Given the description of an element on the screen output the (x, y) to click on. 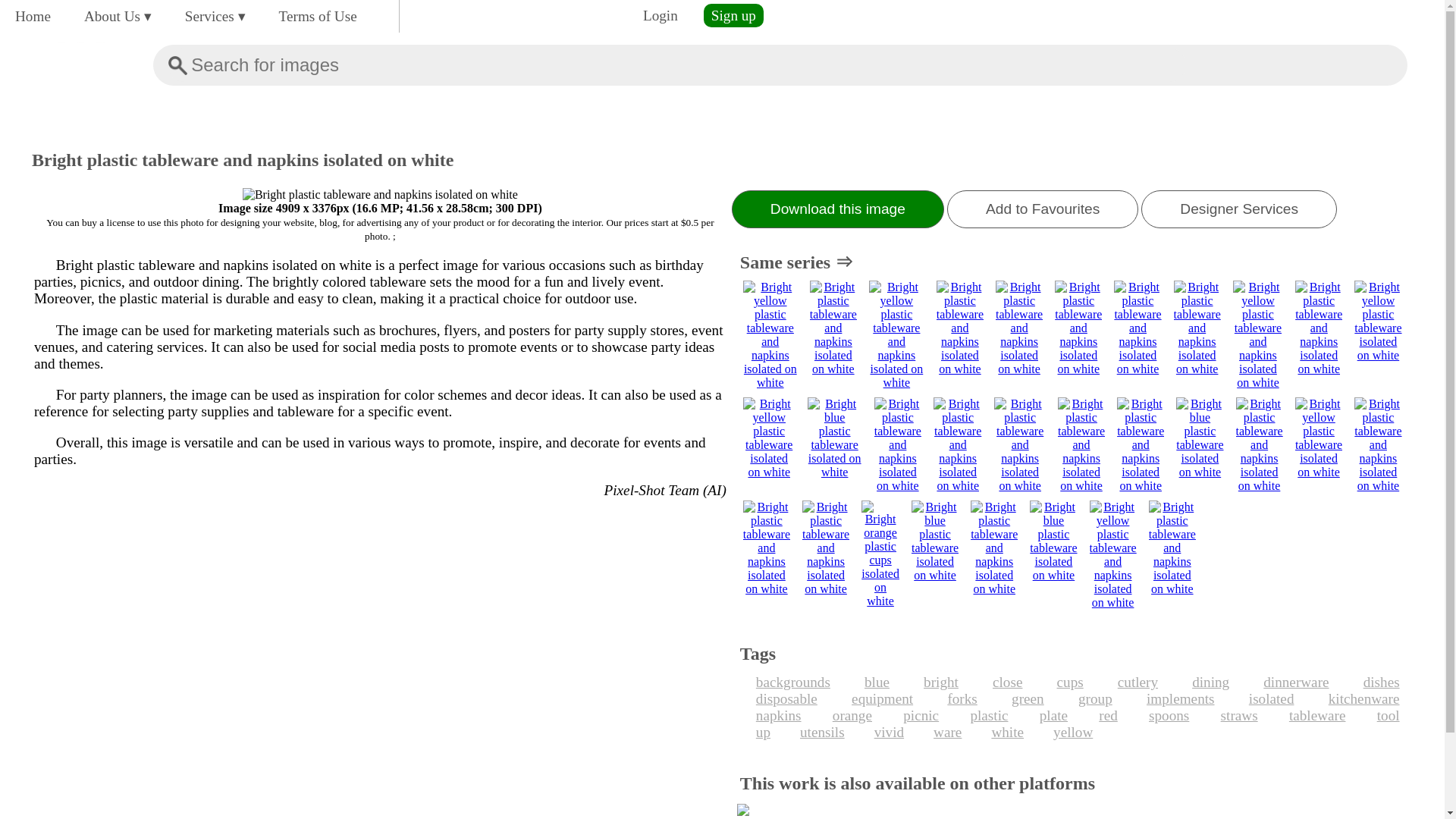
Designer Services (1238, 209)
Buyer registration (732, 15)
Bright plastic tableware and napkins isolated on white (380, 194)
Add to Favourites (1042, 209)
Login (659, 15)
About us (117, 15)
Terms of Use (317, 15)
Download this image (837, 209)
Home (32, 15)
Terms of Use (317, 15)
